Given the description of an element on the screen output the (x, y) to click on. 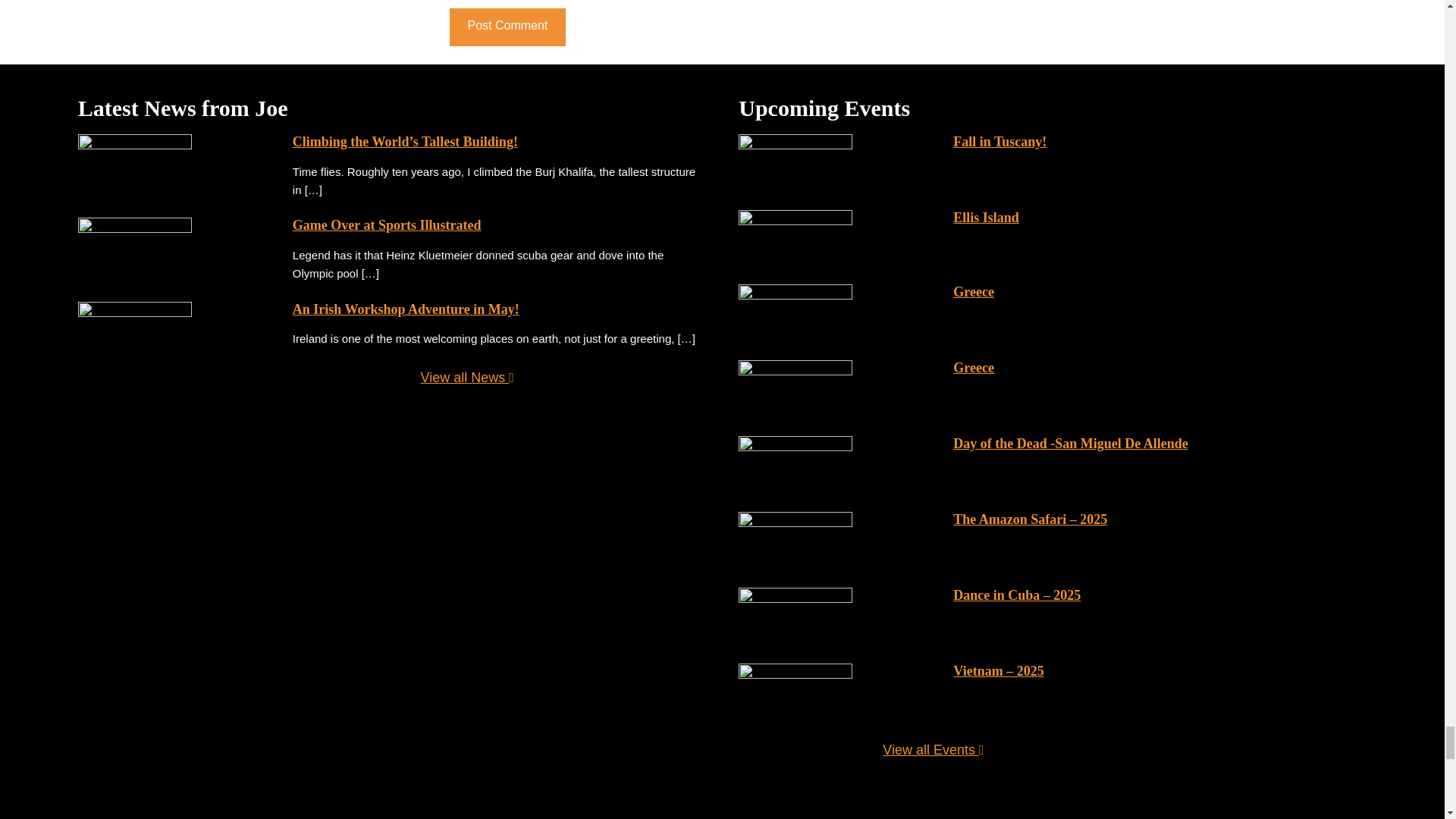
Post Comment (507, 26)
